Given the description of an element on the screen output the (x, y) to click on. 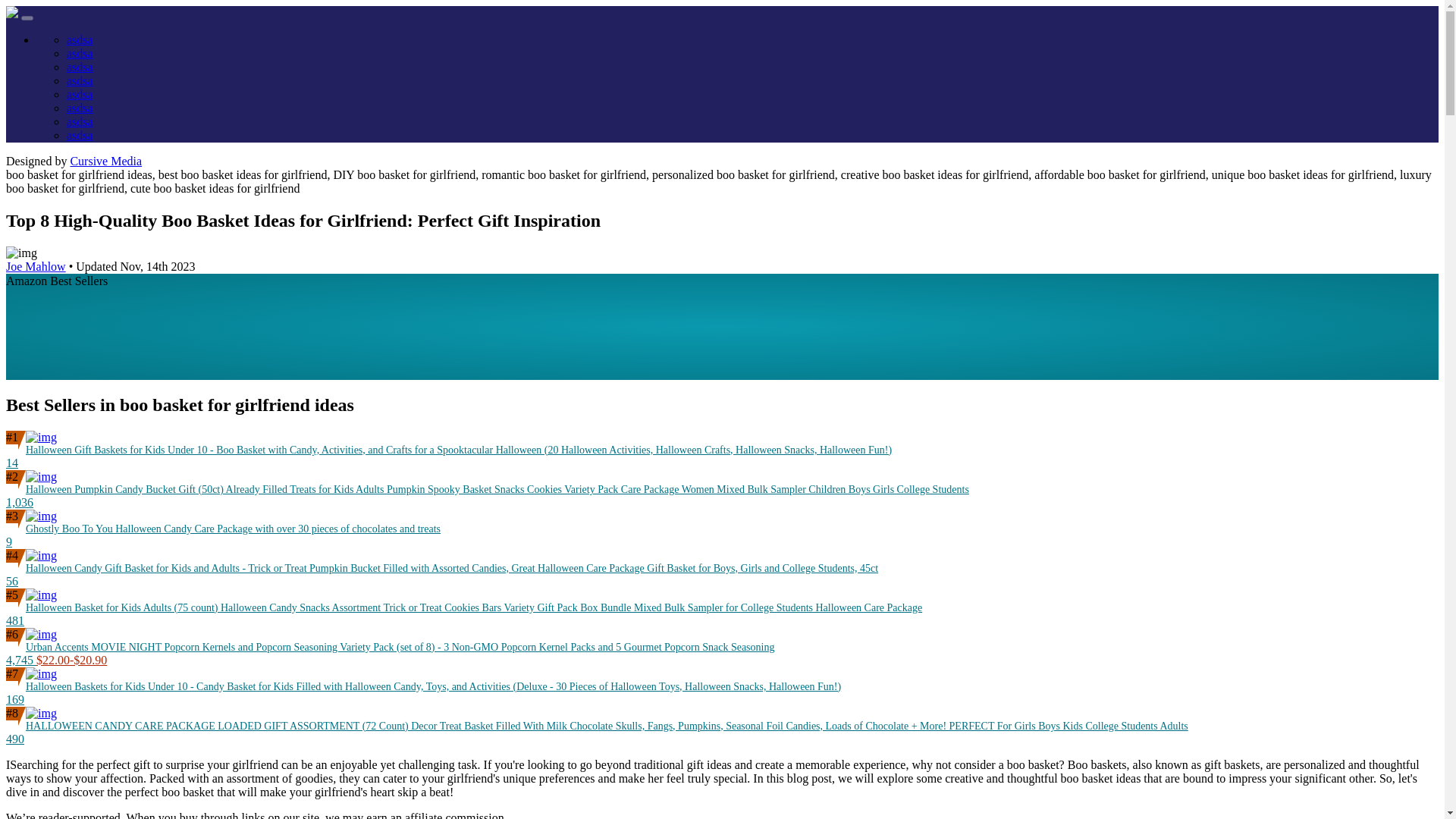
Joe Mahlow (35, 266)
asdsa (79, 39)
asdsa (79, 93)
asdsa (79, 134)
asdsa (79, 121)
14 (11, 462)
56 (11, 581)
169 (14, 698)
4,745 (20, 659)
